Given the description of an element on the screen output the (x, y) to click on. 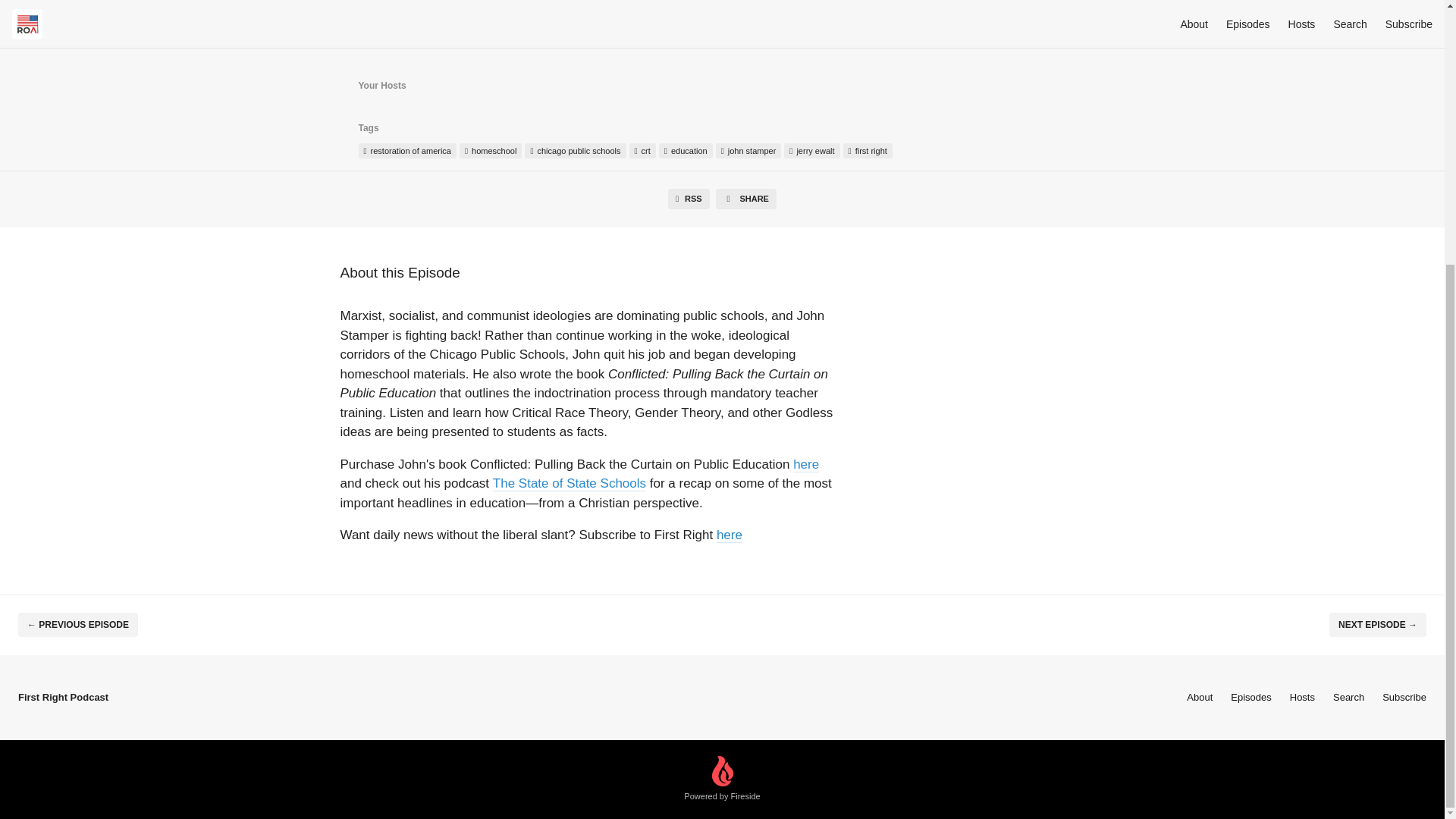
restoration of america (406, 150)
jerry ewalt (812, 150)
crt (642, 150)
Episodes (1250, 696)
RSS (689, 199)
The State of State Schools (569, 482)
first right (867, 150)
Powered by Fireside (722, 779)
here (729, 534)
homeschool (490, 150)
chicago public schools (575, 150)
About (1199, 696)
john stamper (748, 150)
here (805, 464)
education (686, 150)
